Given the description of an element on the screen output the (x, y) to click on. 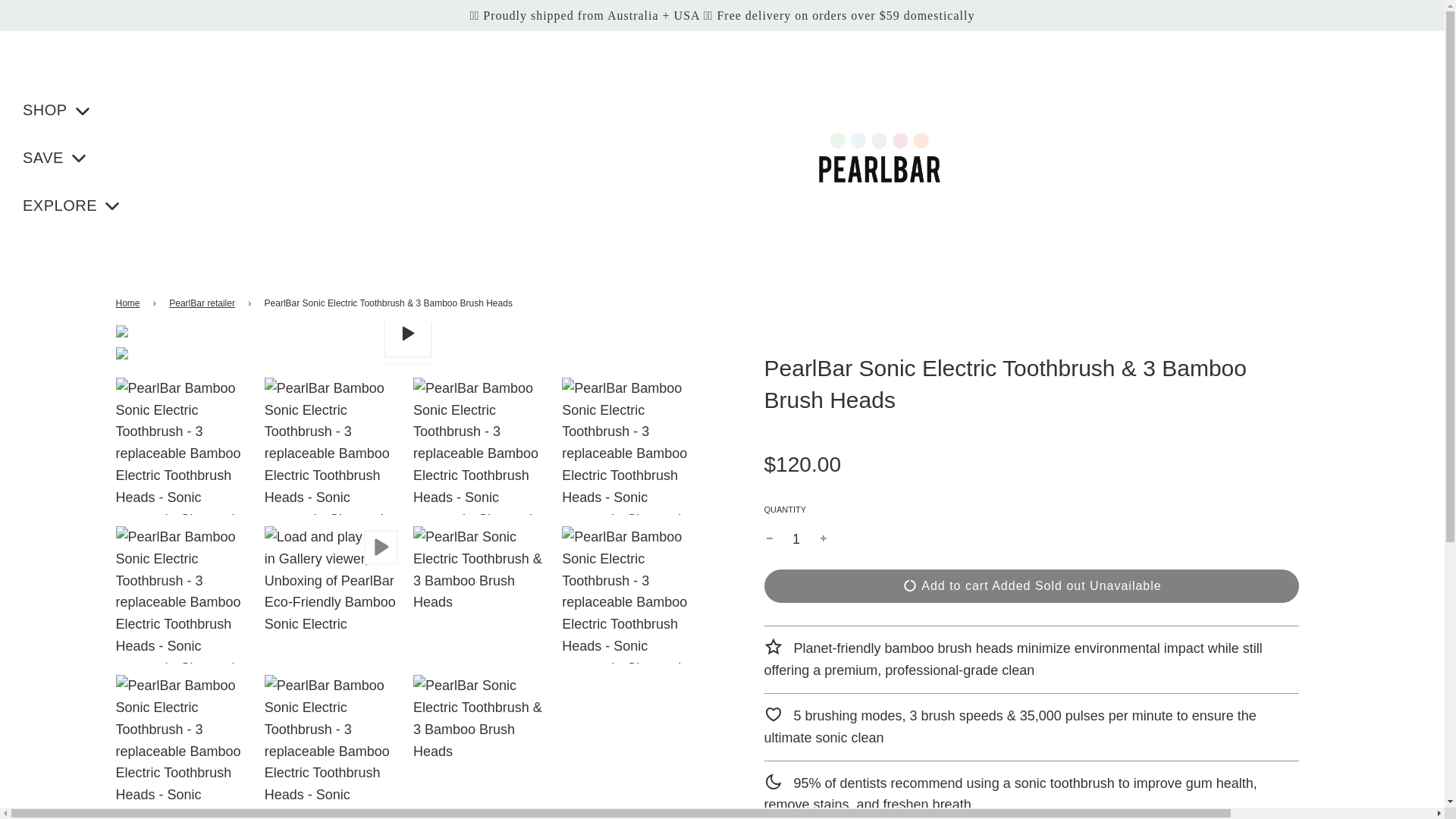
Back to the frontpage (129, 303)
1 (796, 539)
